Given the description of an element on the screen output the (x, y) to click on. 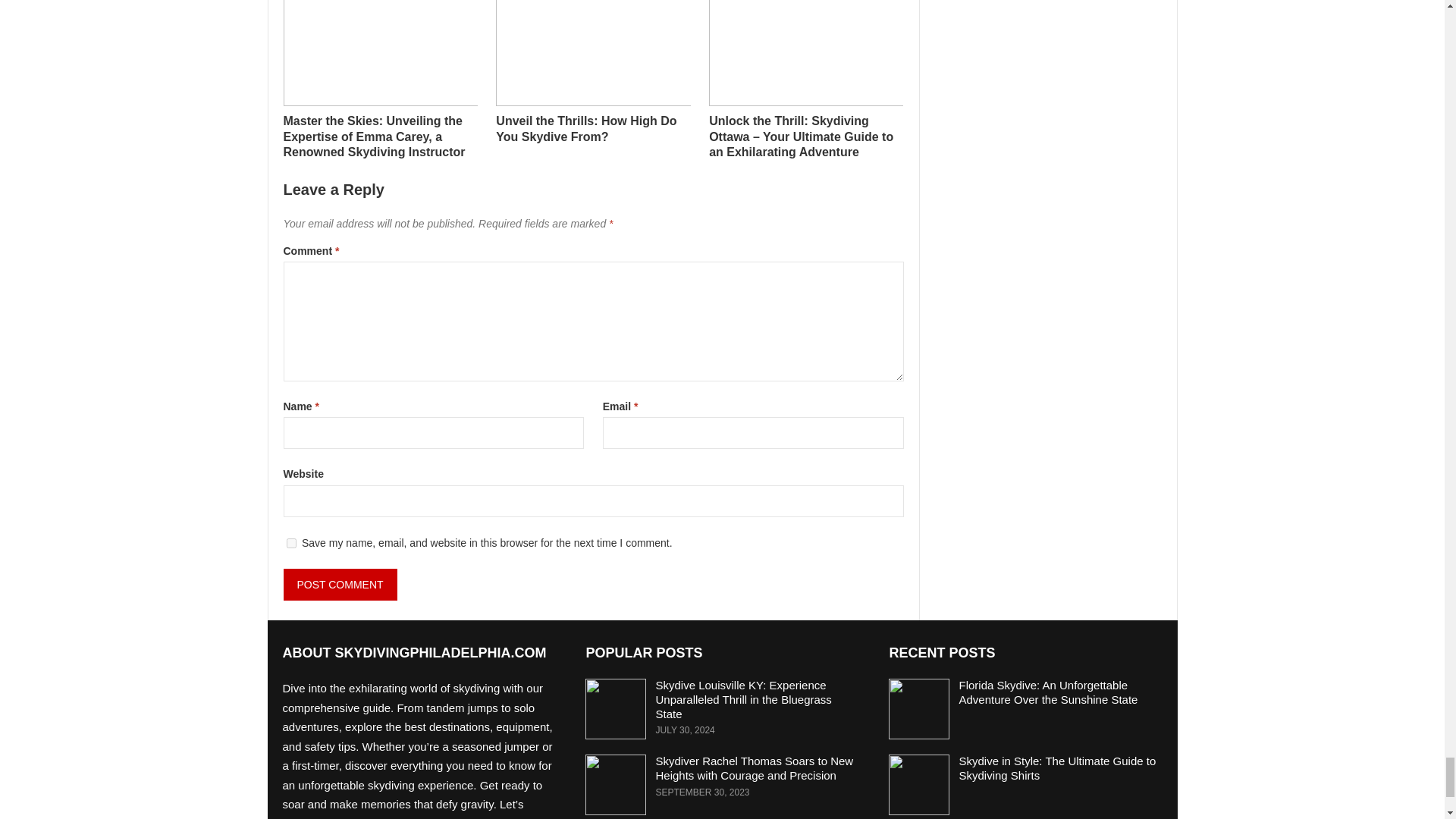
yes (291, 542)
Post Comment (340, 584)
